Given the description of an element on the screen output the (x, y) to click on. 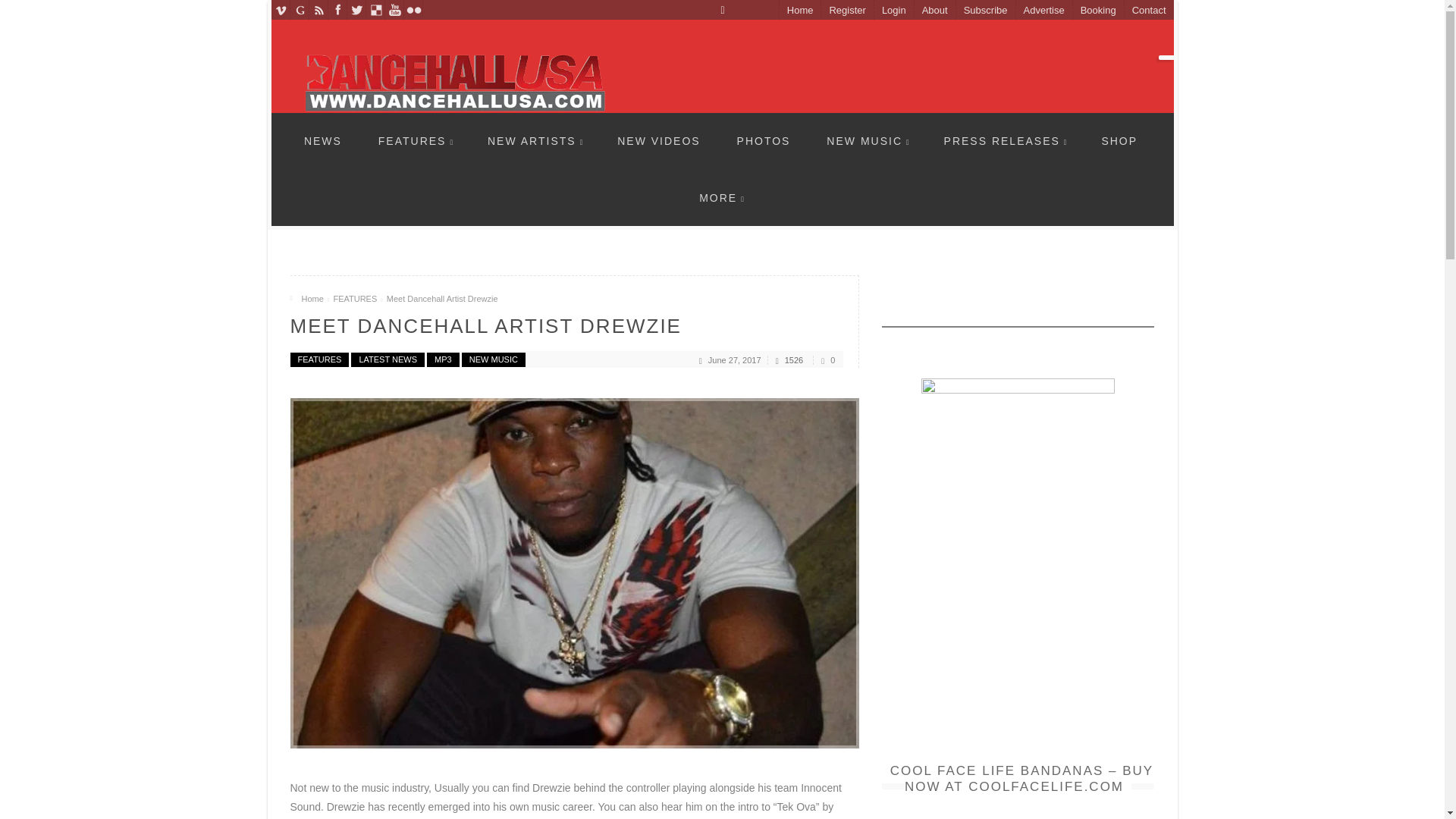
Follow us on Twitter (356, 9)
Contact (1148, 10)
Follow us on Vimeo (279, 9)
FEATURES (416, 140)
Home (799, 10)
About (934, 10)
Follow us on Rss Feed (318, 9)
Follow us on Delicious (374, 9)
Skip to content (335, 120)
View all posts in LATEST NEWS (387, 359)
NEW ARTISTS (535, 140)
Follow us on Flickr (412, 9)
Advertise (1042, 10)
Subscribe (984, 10)
NEW MUSIC (868, 140)
